Given the description of an element on the screen output the (x, y) to click on. 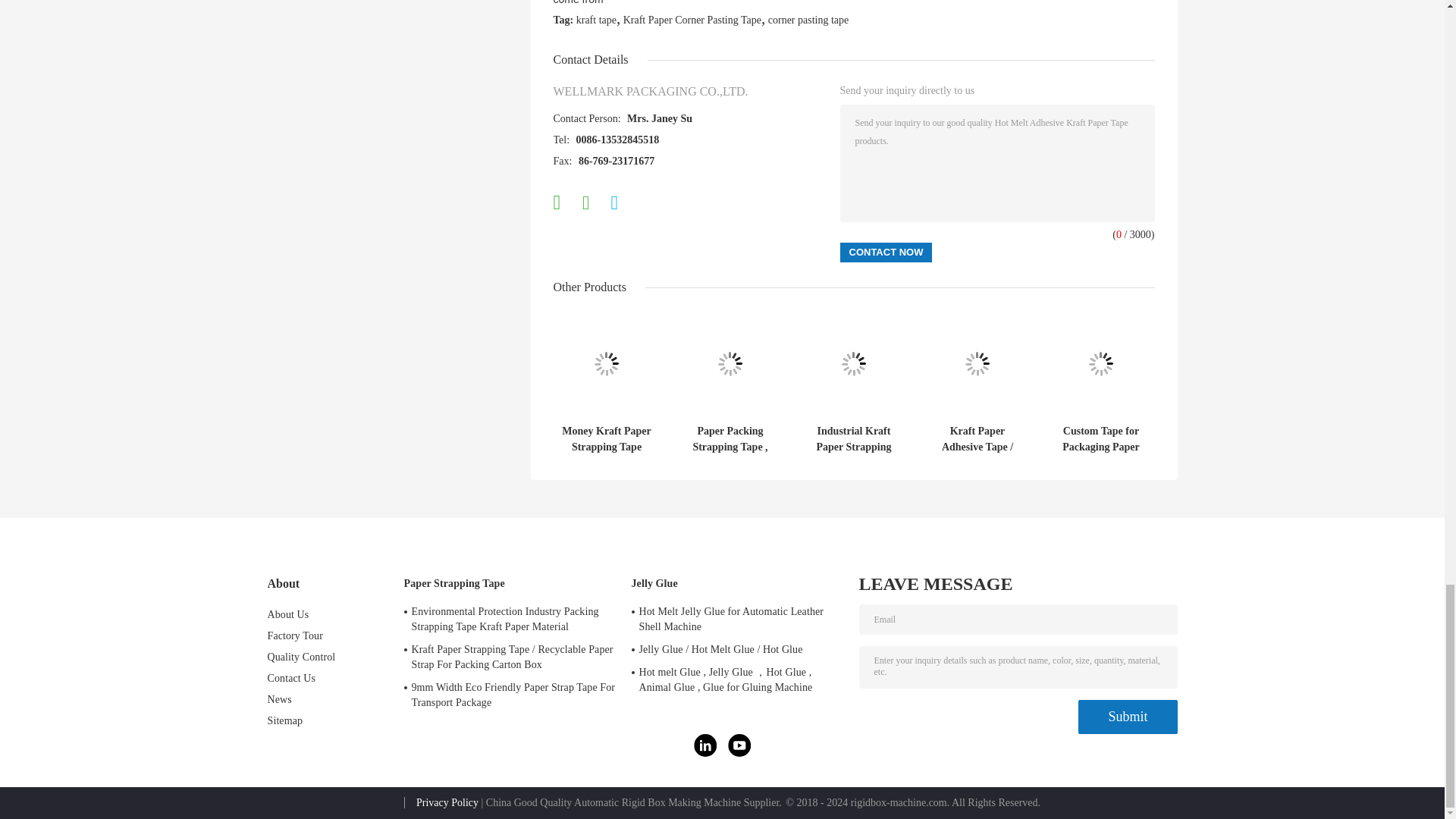
Submit (1127, 716)
Contact Now (886, 252)
